Given the description of an element on the screen output the (x, y) to click on. 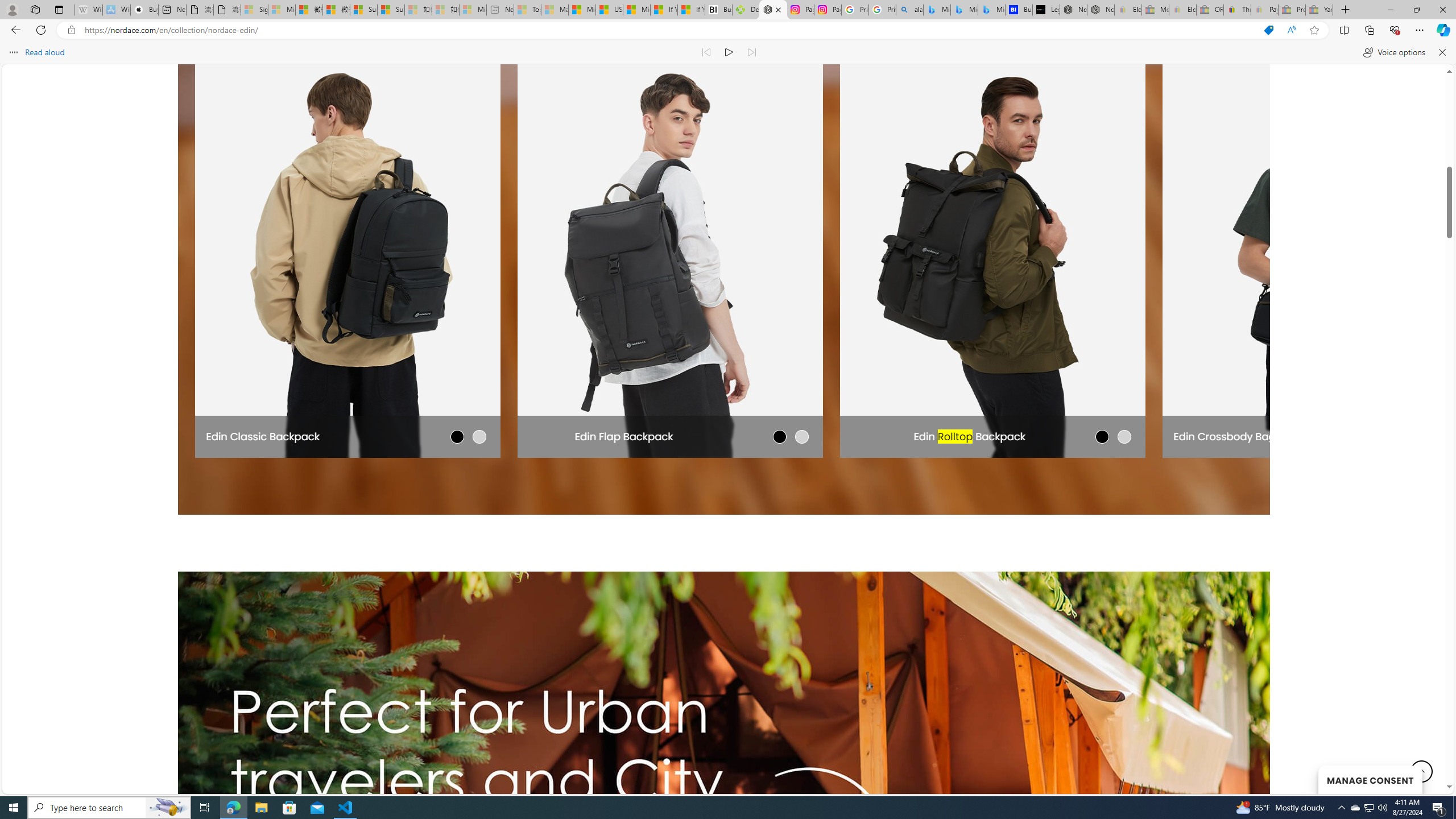
New Tab (1346, 9)
Outlook (1442, 98)
Marine life - MSN - Sleeping (554, 9)
Add this page to favorites (Ctrl+D) (1314, 29)
Minimize (1390, 9)
Yard, Garden & Outdoor Living - Sleeping (1319, 9)
Copilot (Ctrl+Shift+.) (1442, 29)
